Given the description of an element on the screen output the (x, y) to click on. 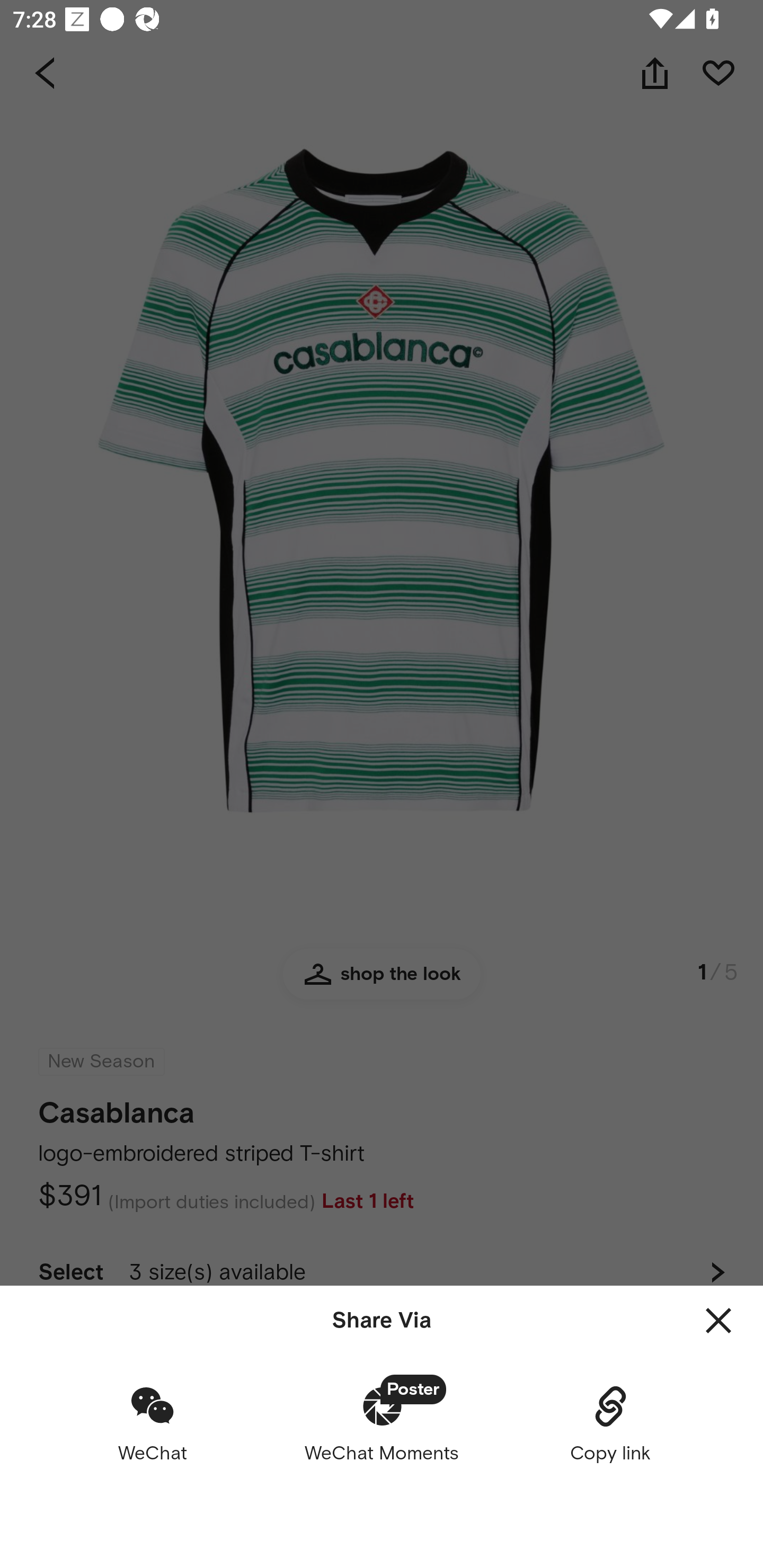
WeChat (152, 1423)
WeChat Moments Poster (381, 1423)
Copy link (609, 1423)
